Given the description of an element on the screen output the (x, y) to click on. 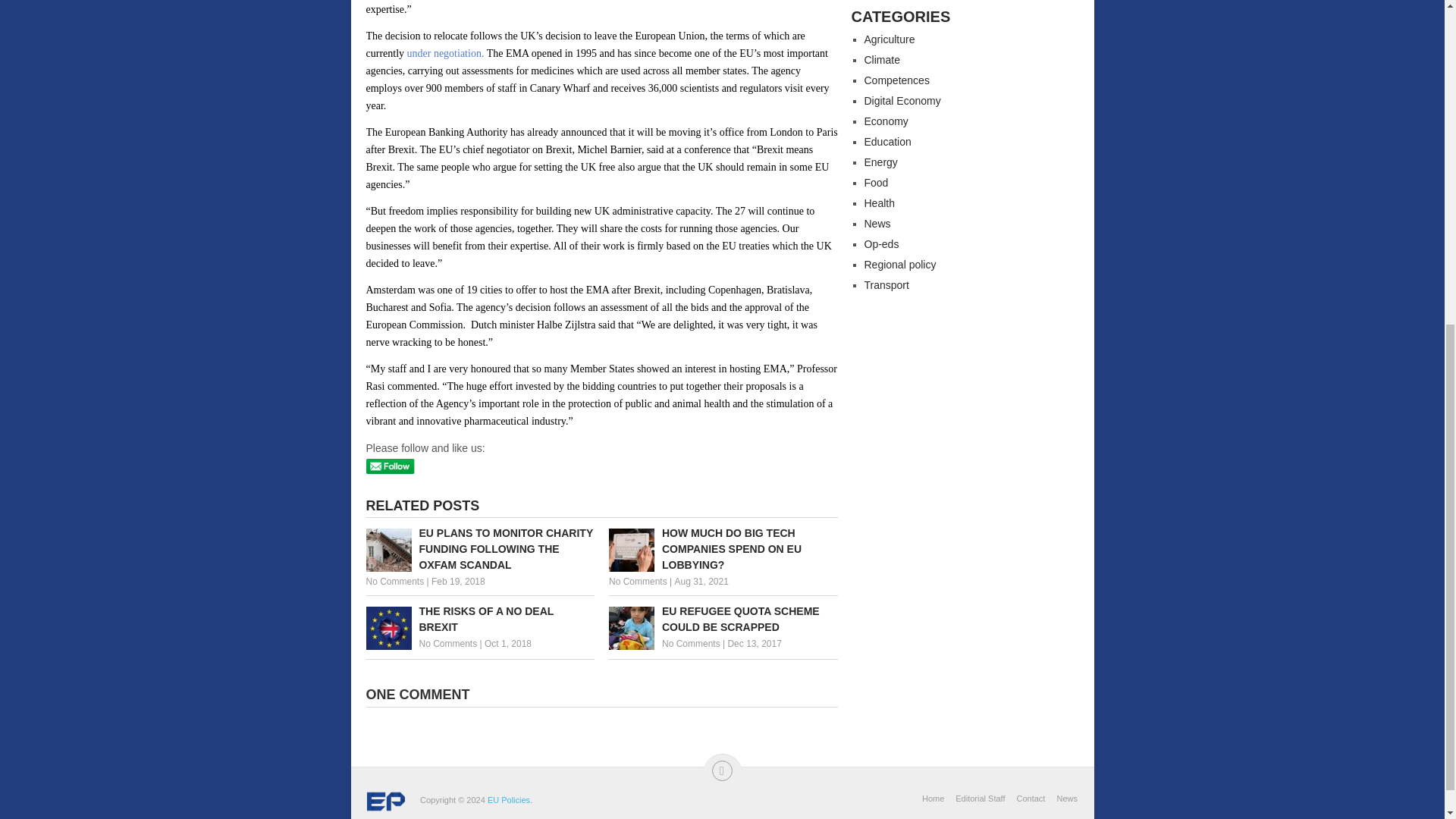
EU Refugee Quota Scheme Could Be Scrapped (723, 619)
under negotiation. (445, 52)
The European Think-tank (508, 799)
No Comments (637, 581)
The risks of a no deal Brexit (479, 619)
No Comments (394, 581)
No Comments (448, 643)
